Given the description of an element on the screen output the (x, y) to click on. 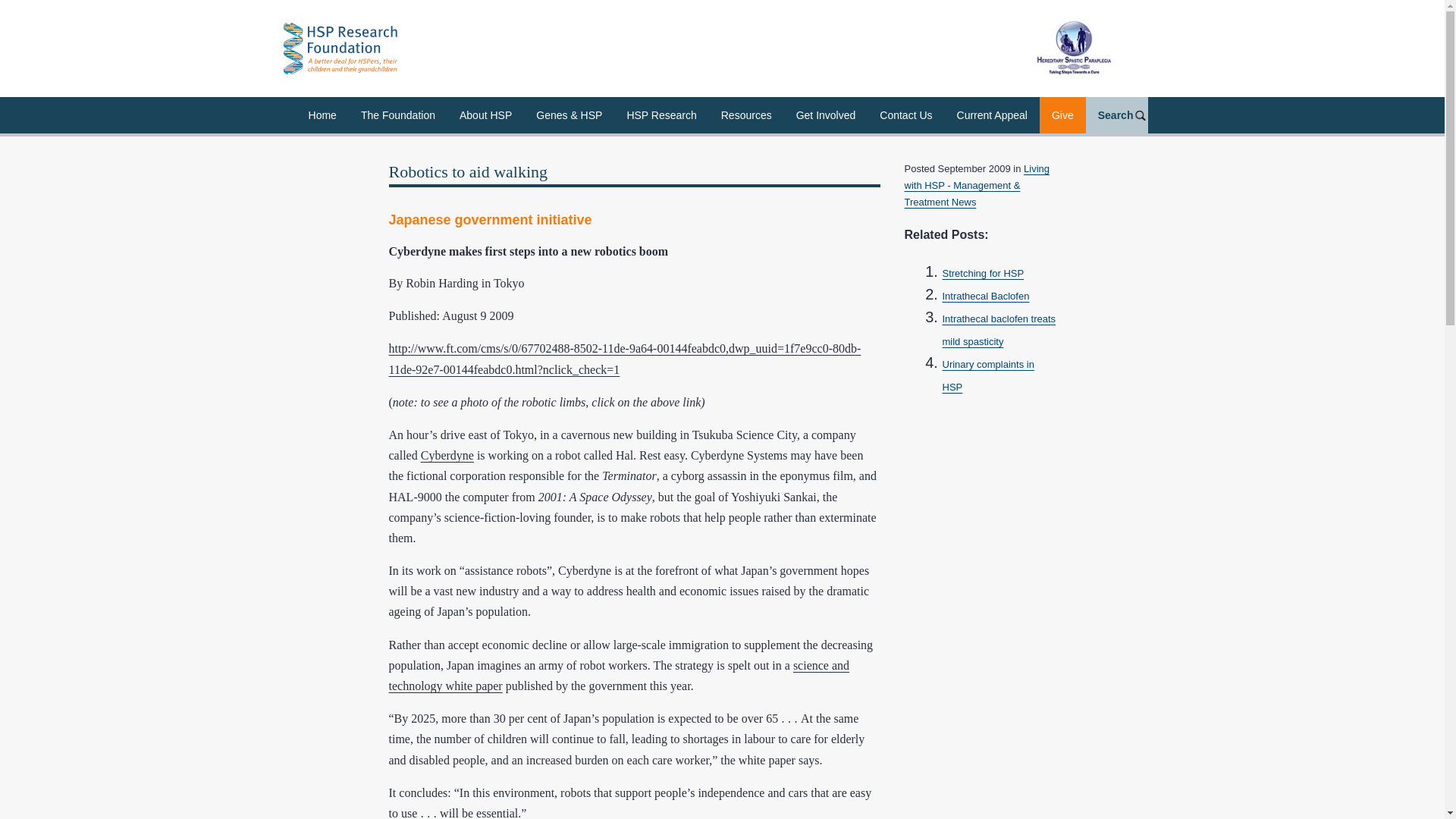
Resources (746, 115)
Current Appeal (991, 115)
Search (1117, 115)
Home (323, 115)
The Foundation (397, 115)
Contact Us (905, 115)
HSP Research (660, 115)
Stretching for HSP (982, 273)
Give (1062, 115)
Urinary complaints in HSP (987, 375)
Intrathecal Baclofen (985, 296)
Intrathecal baclofen treats mild spasticity (998, 329)
About HSP (485, 115)
Get Involved (825, 115)
